Given the description of an element on the screen output the (x, y) to click on. 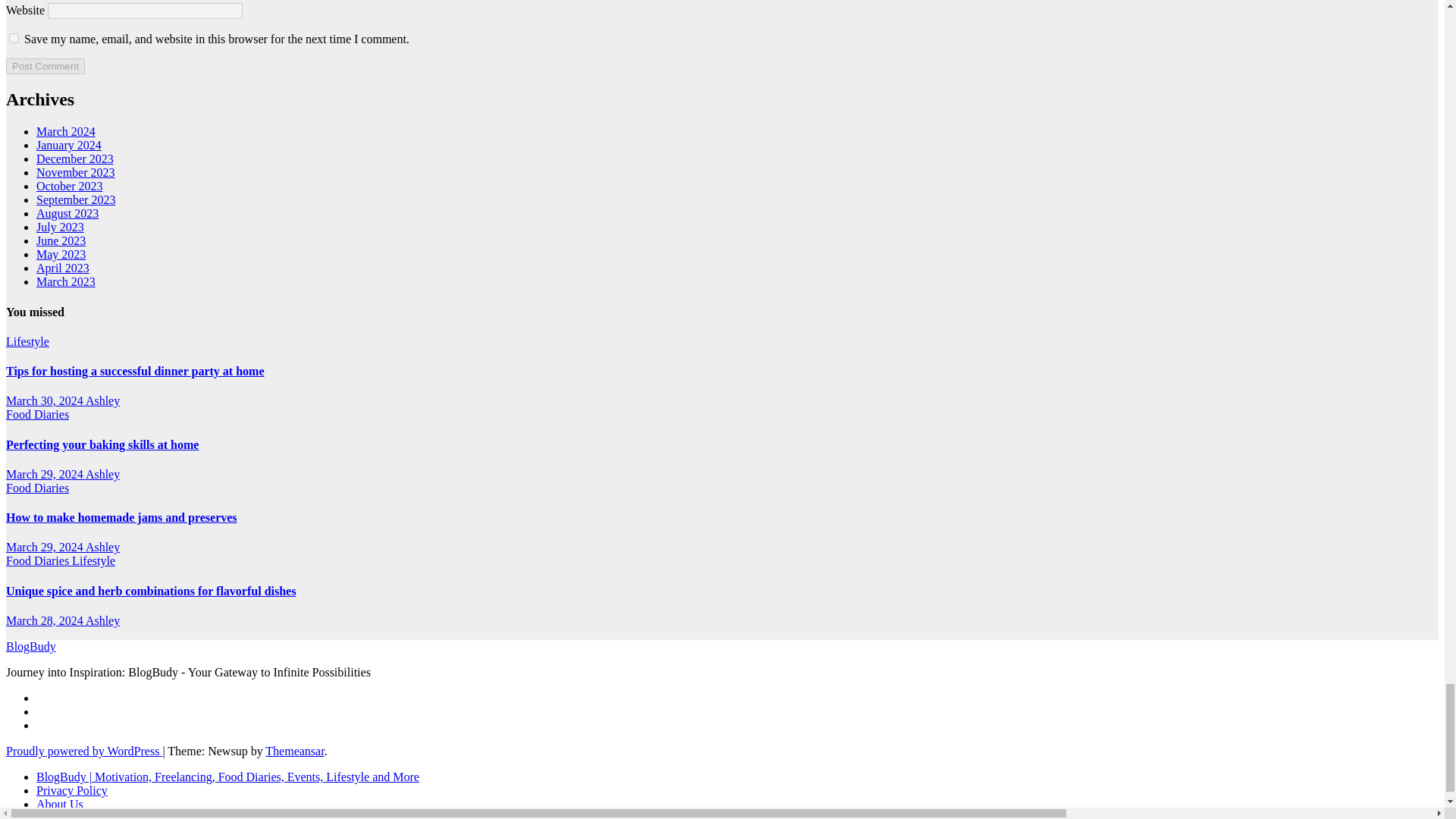
Post Comment (44, 66)
Permalink to: Perfecting your baking skills at home (101, 444)
yes (13, 38)
Permalink to: How to make homemade jams and preserves (121, 517)
